Given the description of an element on the screen output the (x, y) to click on. 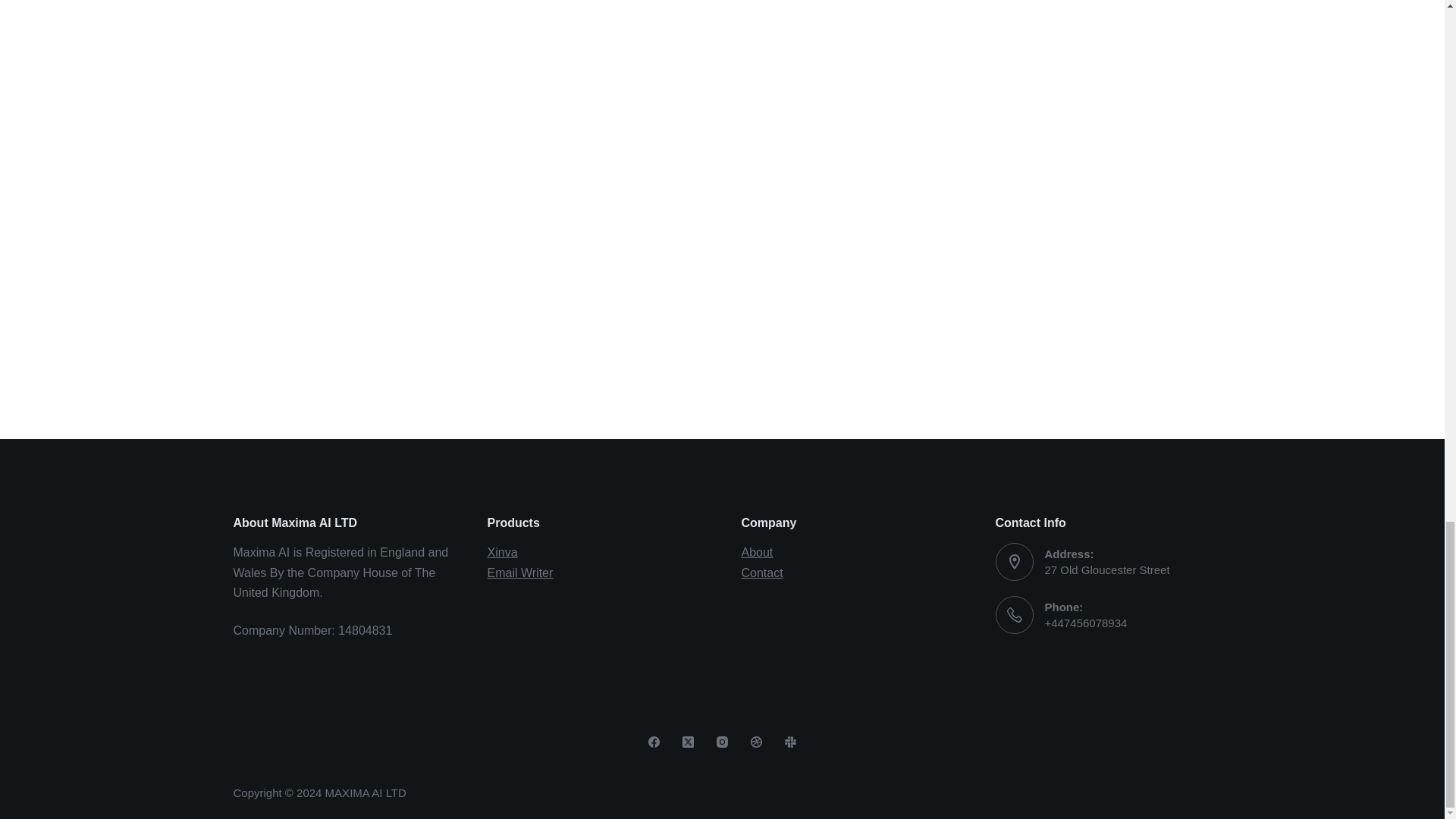
Email Writer (519, 572)
Xinva (501, 552)
About (757, 552)
Contact (762, 572)
